Given the description of an element on the screen output the (x, y) to click on. 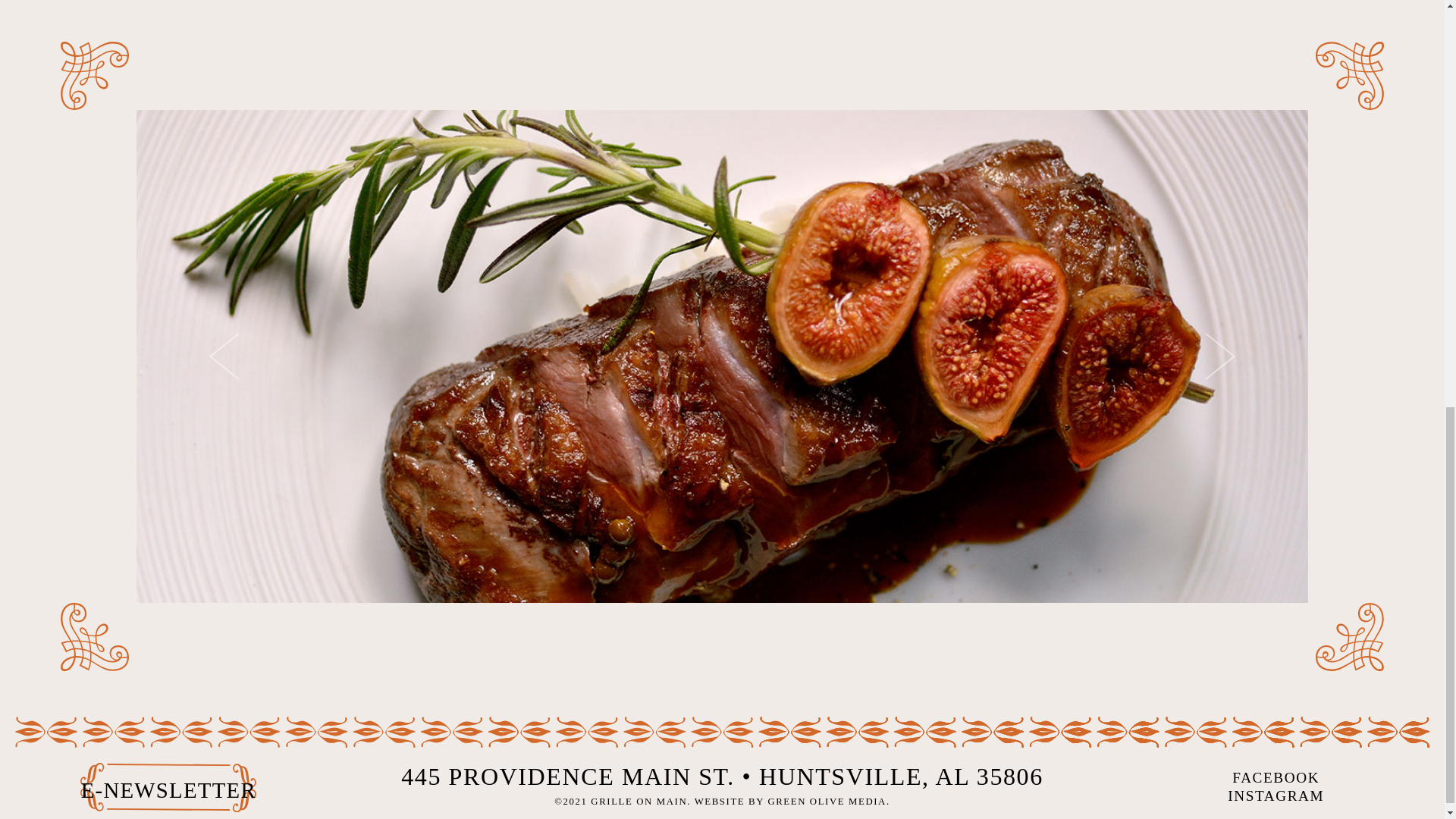
INSTAGRAM (1275, 796)
GREEN OLIVE MEDIA. (828, 801)
E-NEWSLETTER (168, 790)
FACEBOOK (1275, 777)
